Given the description of an element on the screen output the (x, y) to click on. 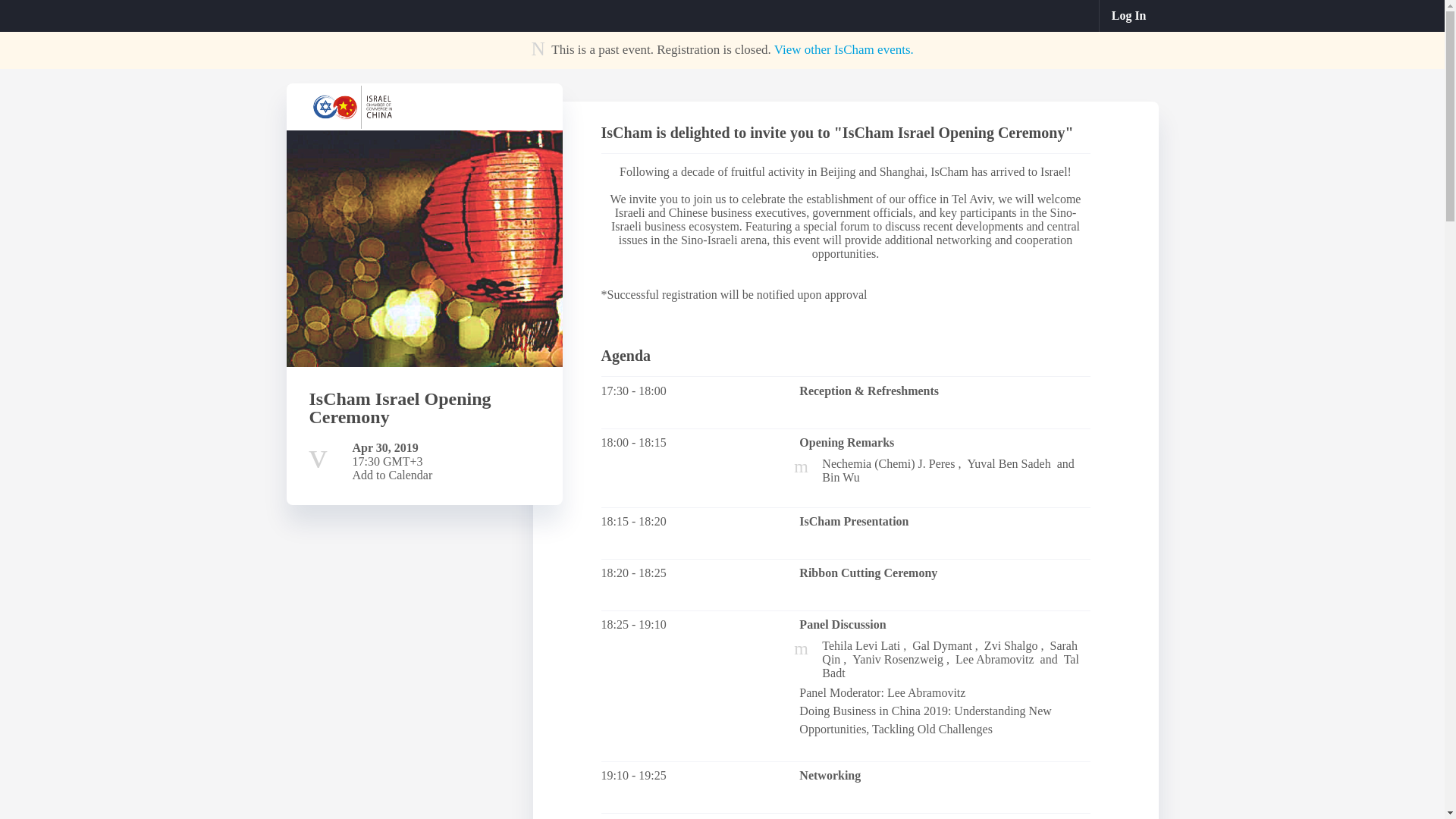
Sarah Qin (949, 652)
Yaniv Rosenzweig (897, 658)
Tal Badt (950, 665)
Tehila Levi Lati (860, 645)
Sign in (1128, 15)
Yuval Ben Sadeh (1007, 463)
Lee Abramovitz (994, 658)
View other IsCham events. (844, 49)
Log In (1128, 15)
Add to Calendar (392, 474)
Gal Dymant (942, 645)
Bin Wu (840, 477)
Zvi Shalgo (1011, 645)
